Given the description of an element on the screen output the (x, y) to click on. 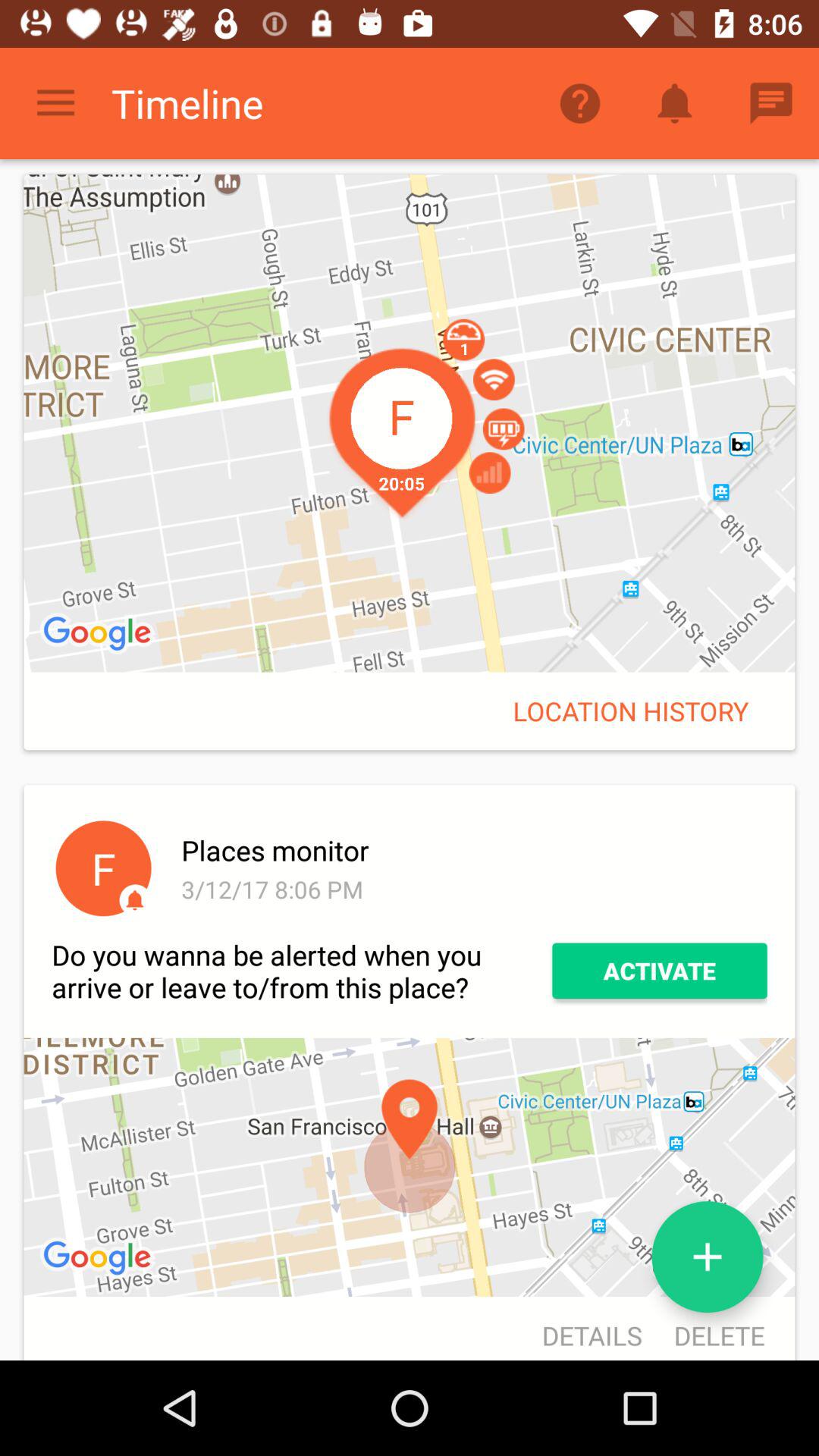
launch the icon next to places monitor item (103, 868)
